Given the description of an element on the screen output the (x, y) to click on. 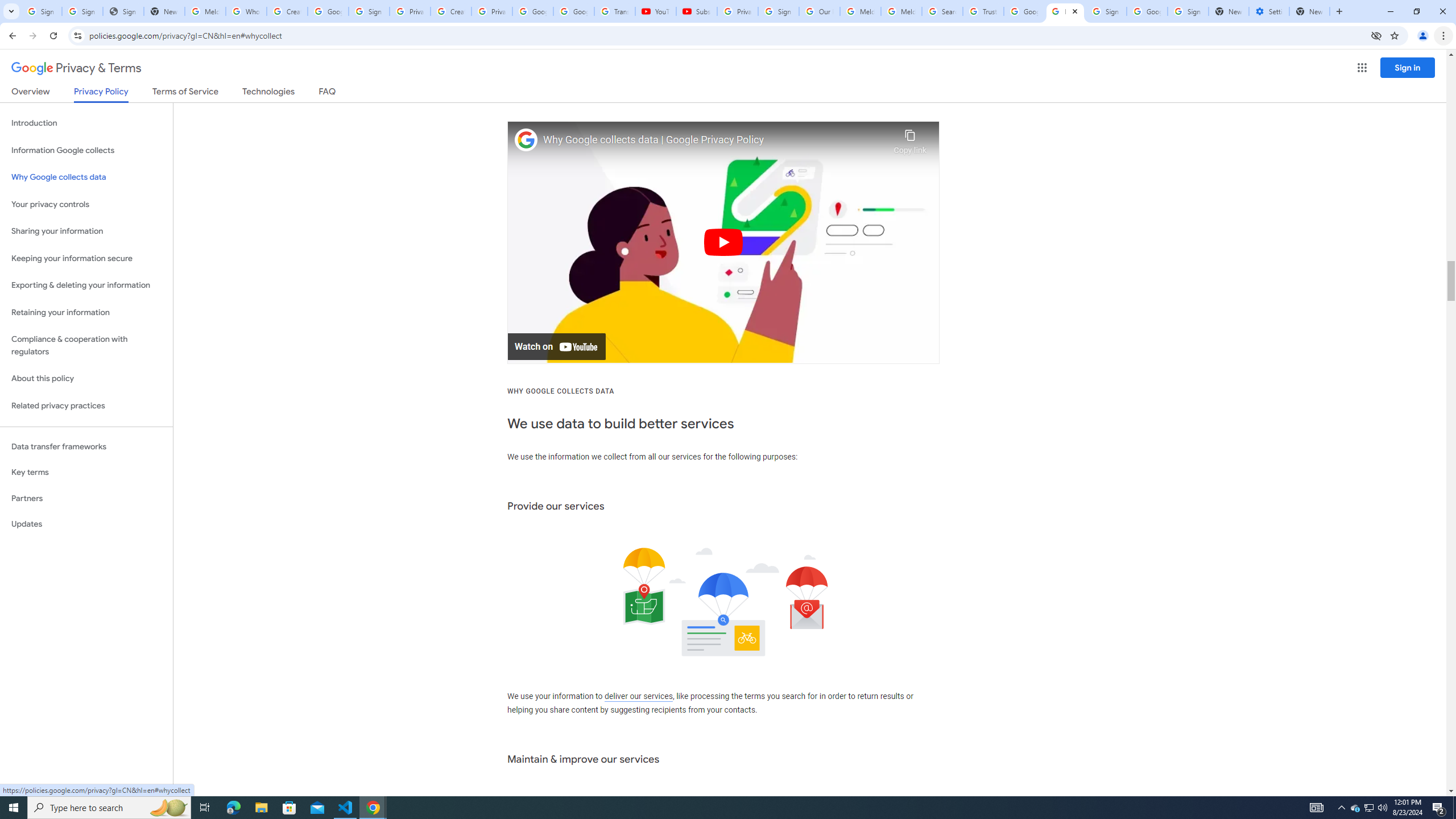
Your privacy controls (86, 204)
Subscriptions - YouTube (696, 11)
Trusted Information and Content - Google Safety Center (983, 11)
Play (723, 242)
